Given the description of an element on the screen output the (x, y) to click on. 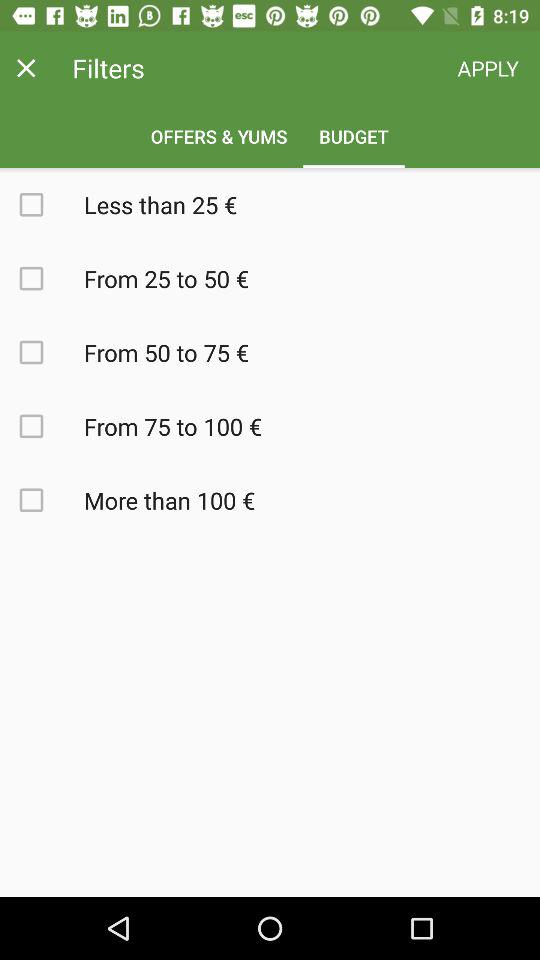
toggle to cancel (26, 68)
